Given the description of an element on the screen output the (x, y) to click on. 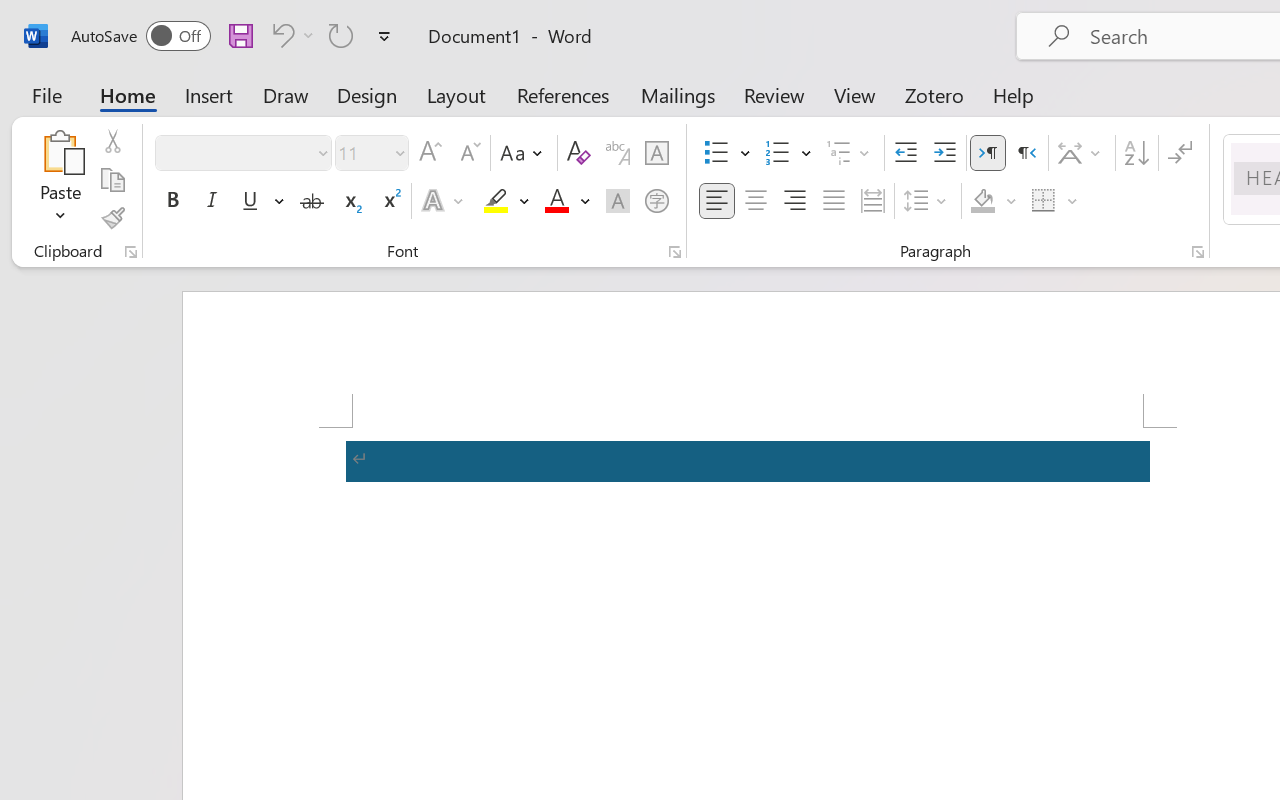
Right-to-Left (1026, 153)
Undo Apply Quick Style Set (280, 35)
